Given the description of an element on the screen output the (x, y) to click on. 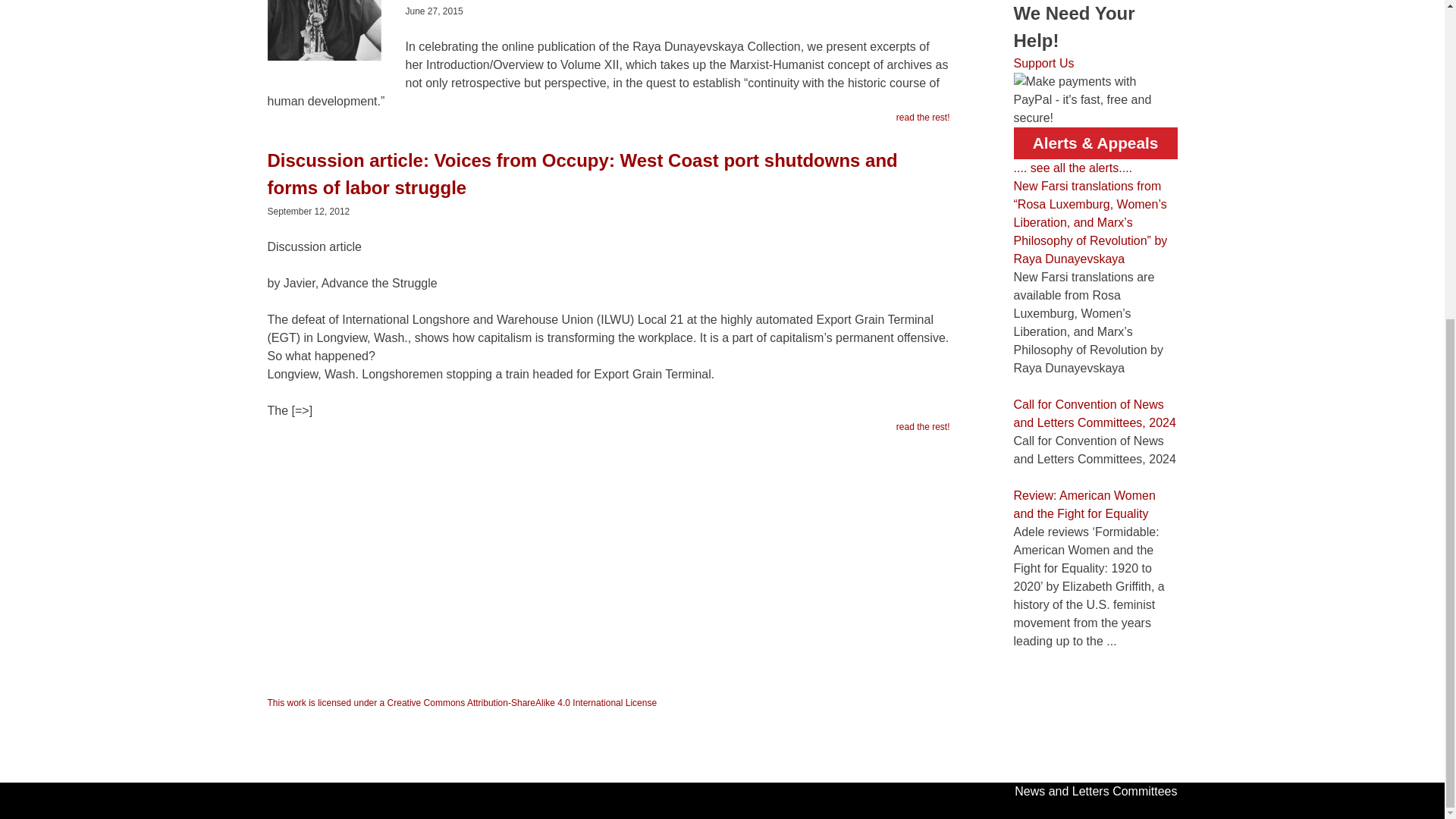
.... see all the alerts.... (1072, 167)
Call for Convention of News and Letters Committees, 2024 (1093, 413)
read the rest! (923, 427)
Support Us (1043, 62)
read the rest! (923, 117)
Review: American Women and the Fight for Equality (1083, 504)
